Given the description of an element on the screen output the (x, y) to click on. 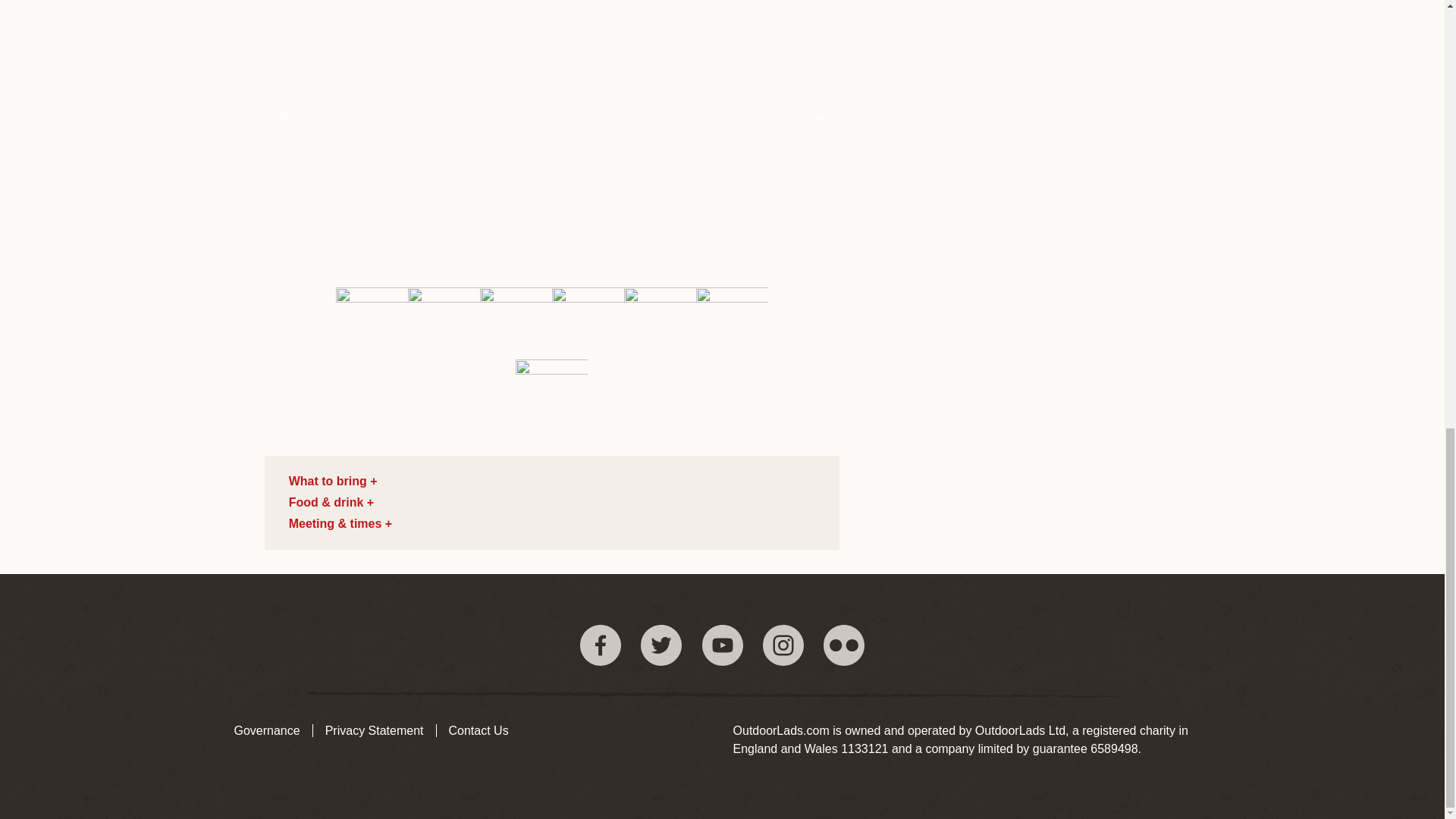
Next (816, 115)
Previous (287, 115)
